Given the description of an element on the screen output the (x, y) to click on. 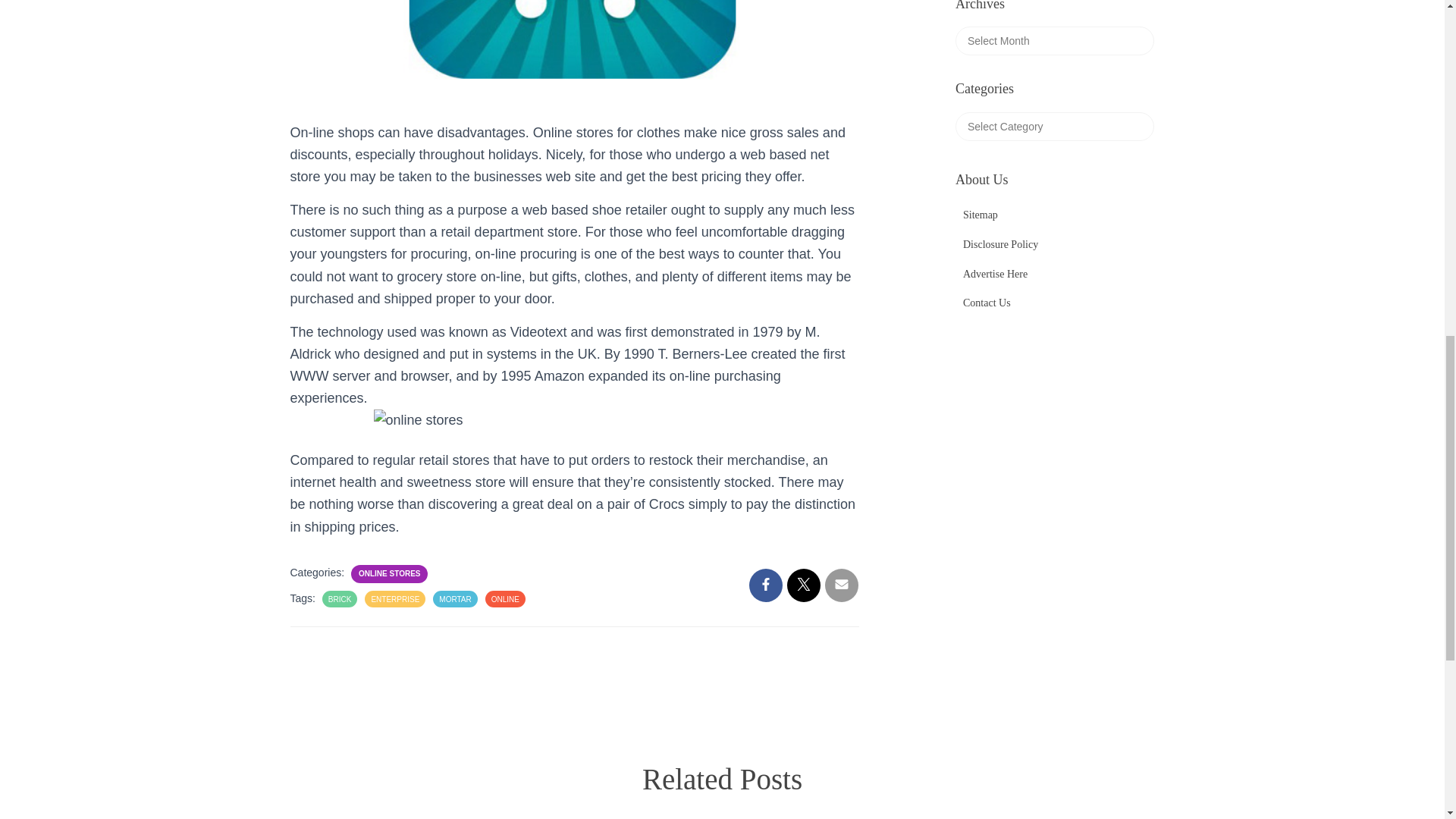
ONLINE (505, 599)
BRICK (340, 599)
ONLINE STORES (389, 573)
ENTERPRISE (395, 599)
MORTAR (454, 599)
